Given the description of an element on the screen output the (x, y) to click on. 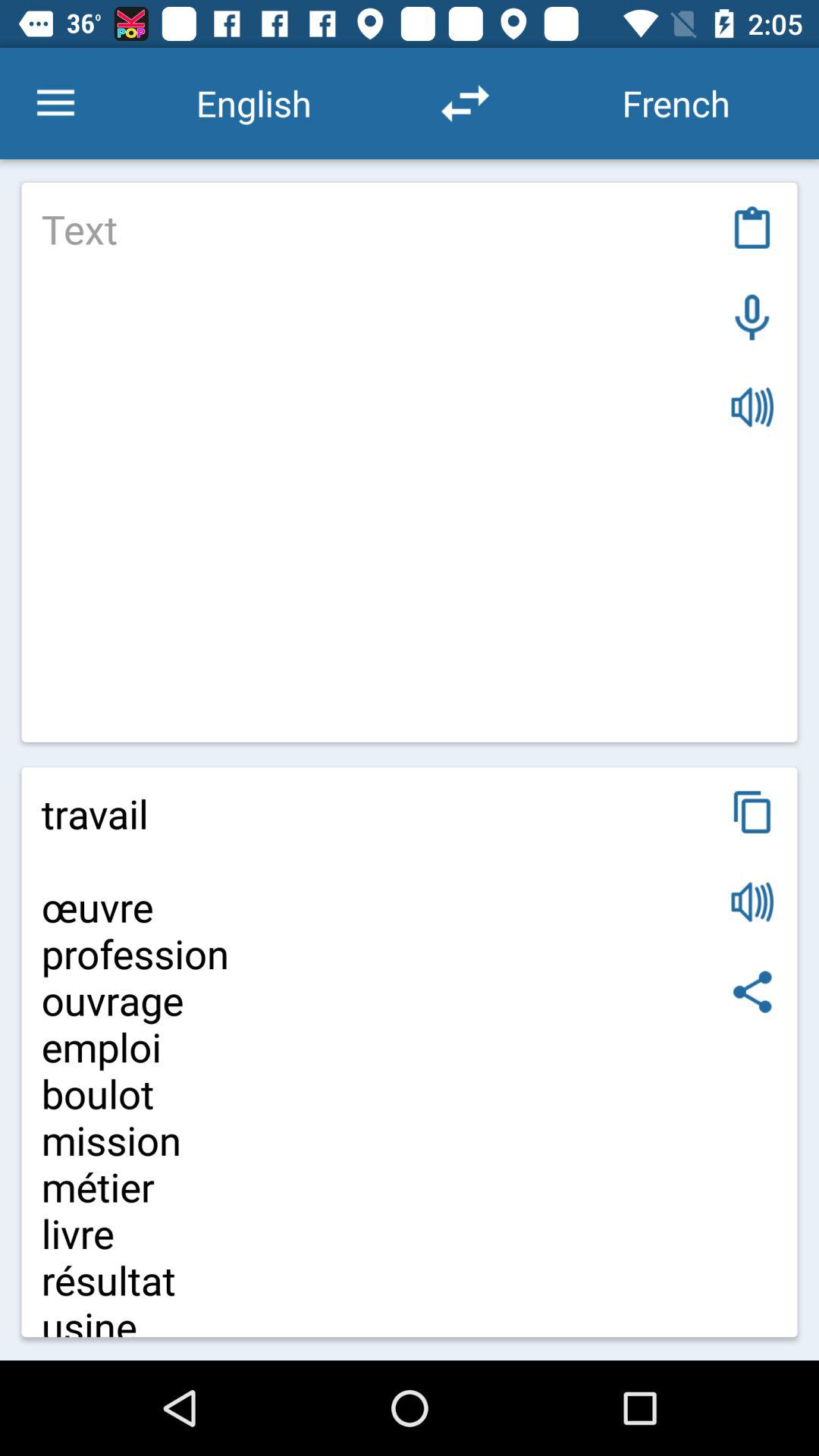
turn on the item at the bottom right corner (752, 991)
